Given the description of an element on the screen output the (x, y) to click on. 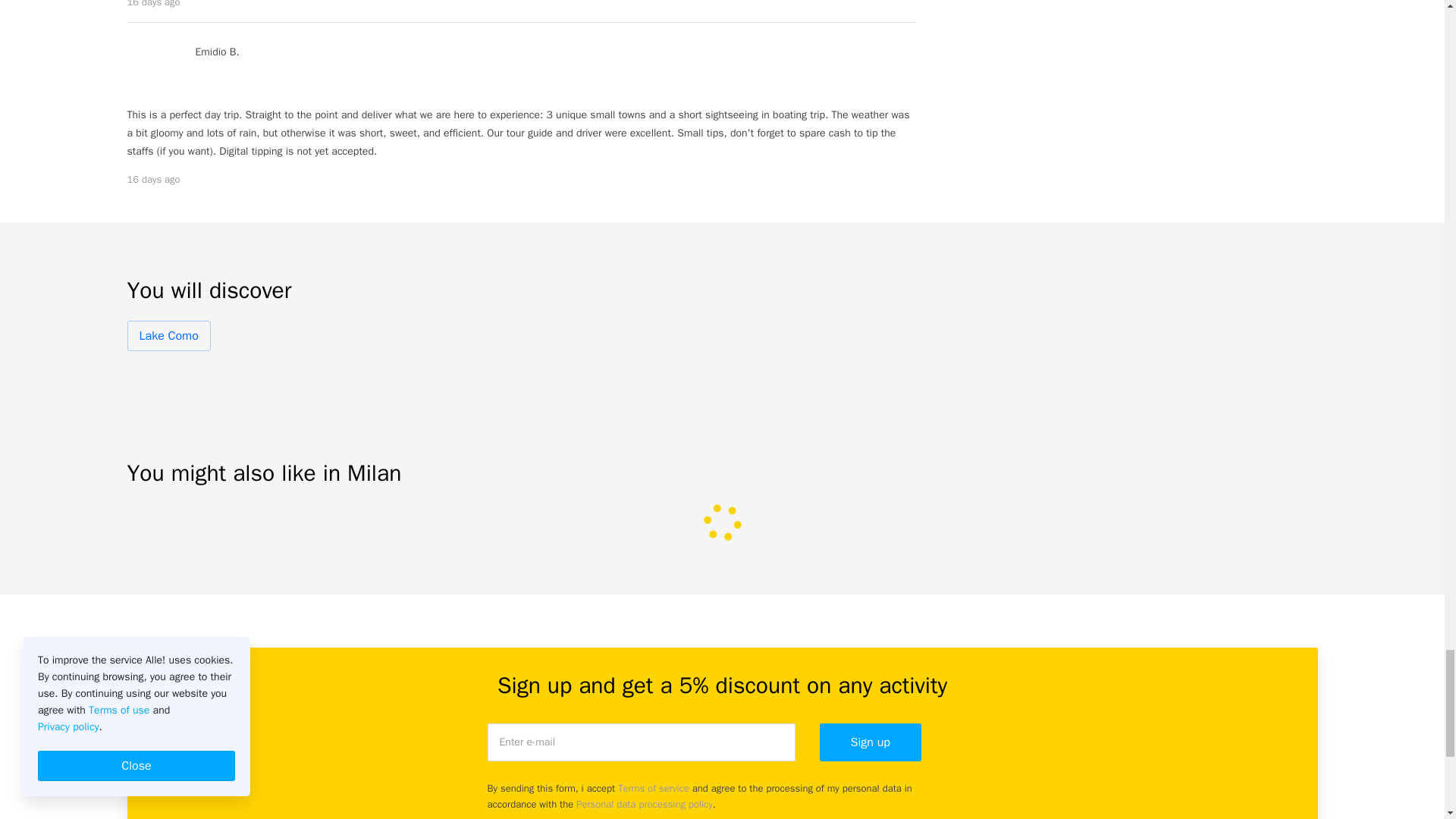
Personal data processing policy (644, 803)
Sign up (869, 742)
Sign up (869, 742)
Terms of service (652, 788)
Lake Como (169, 336)
